Given the description of an element on the screen output the (x, y) to click on. 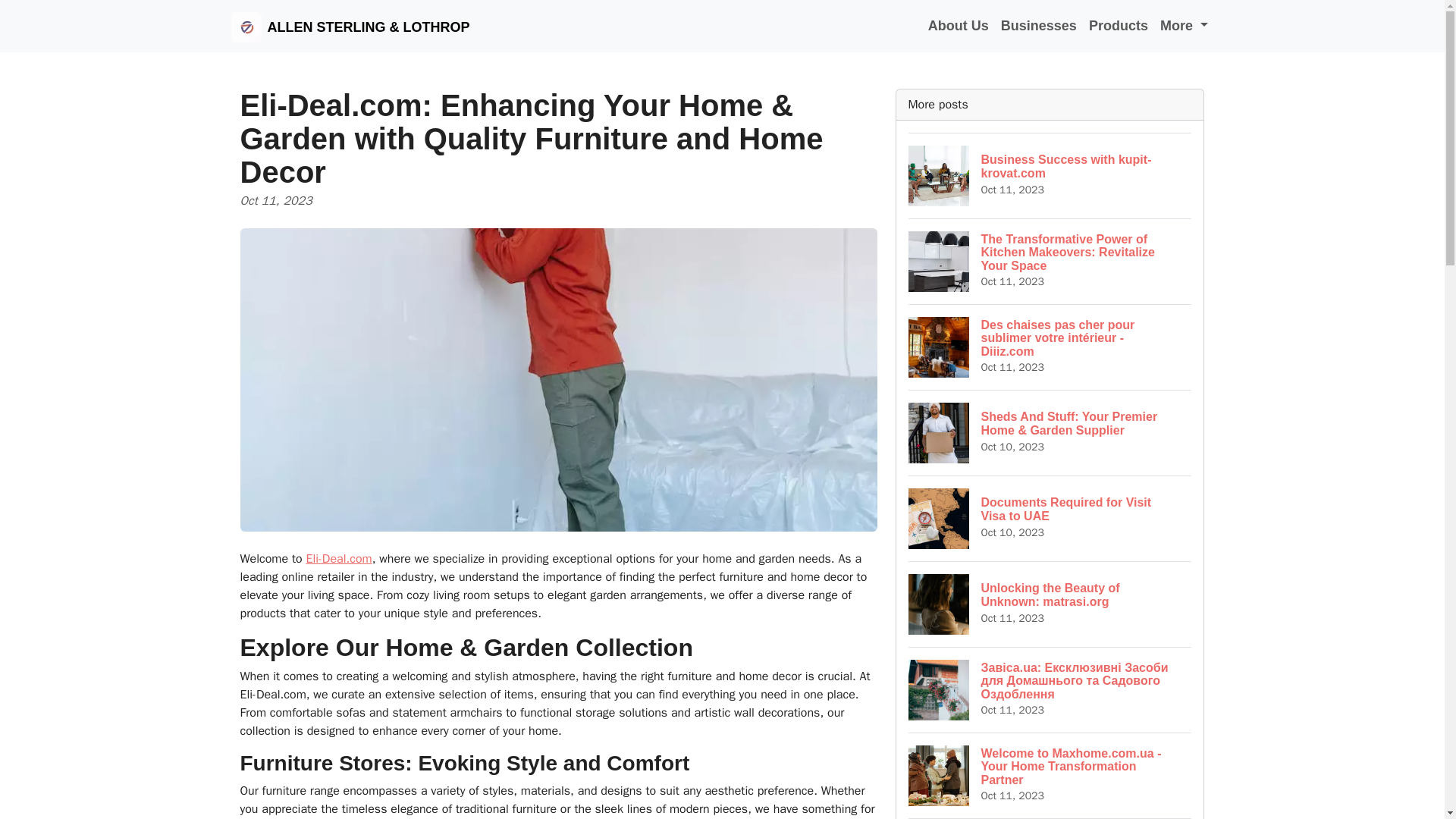
Businesses (1038, 25)
Eli-Deal.com (1050, 604)
More (1050, 518)
Products (338, 558)
